Given the description of an element on the screen output the (x, y) to click on. 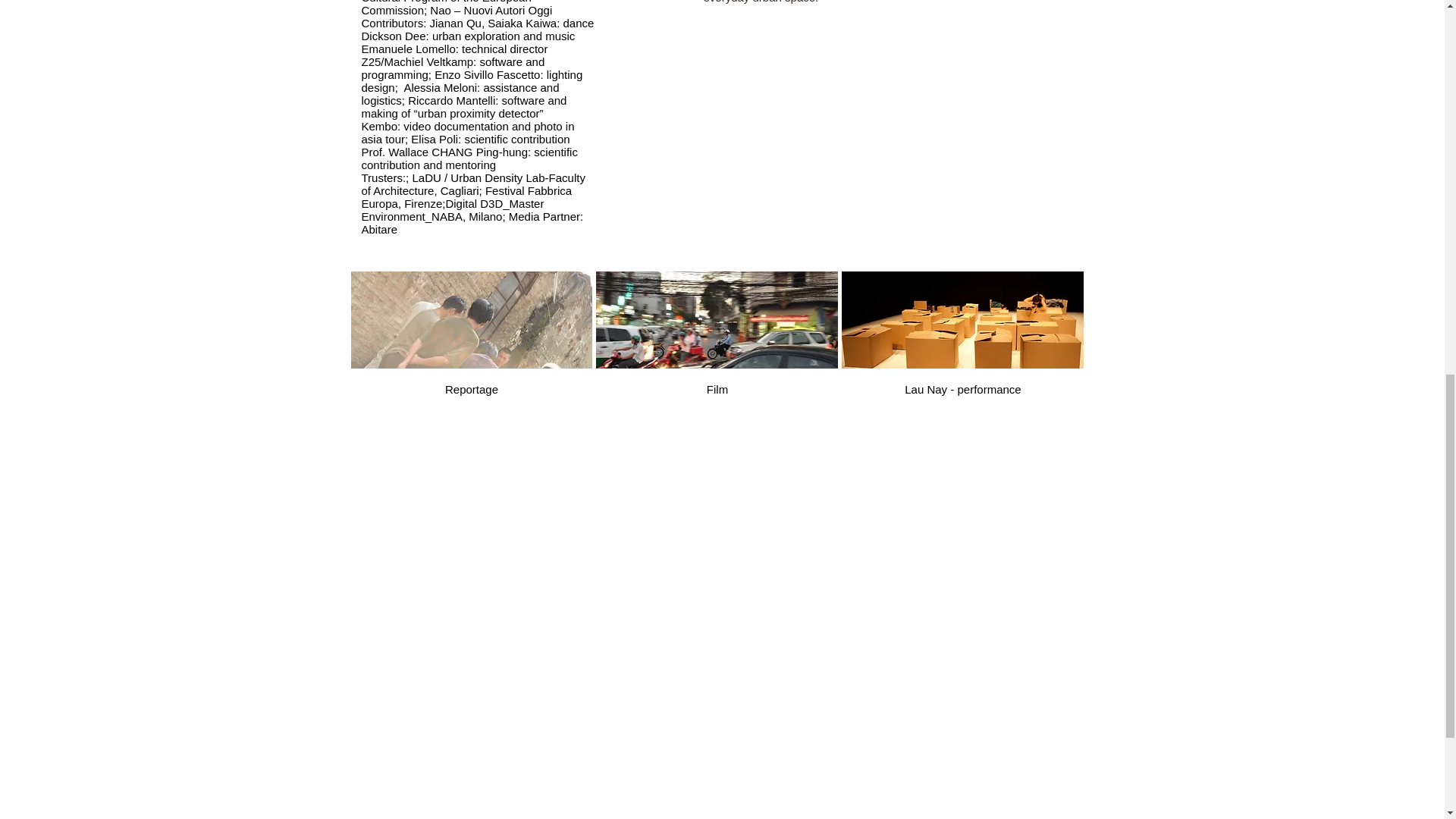
Riccardo Mantelli (451, 100)
Festival Fabbrica Europa (466, 196)
Film (716, 341)
Z25 (370, 61)
Reportage (471, 341)
Dickson Dee (393, 35)
Abitare (379, 228)
Lau Nay - performance (962, 341)
